Given the description of an element on the screen output the (x, y) to click on. 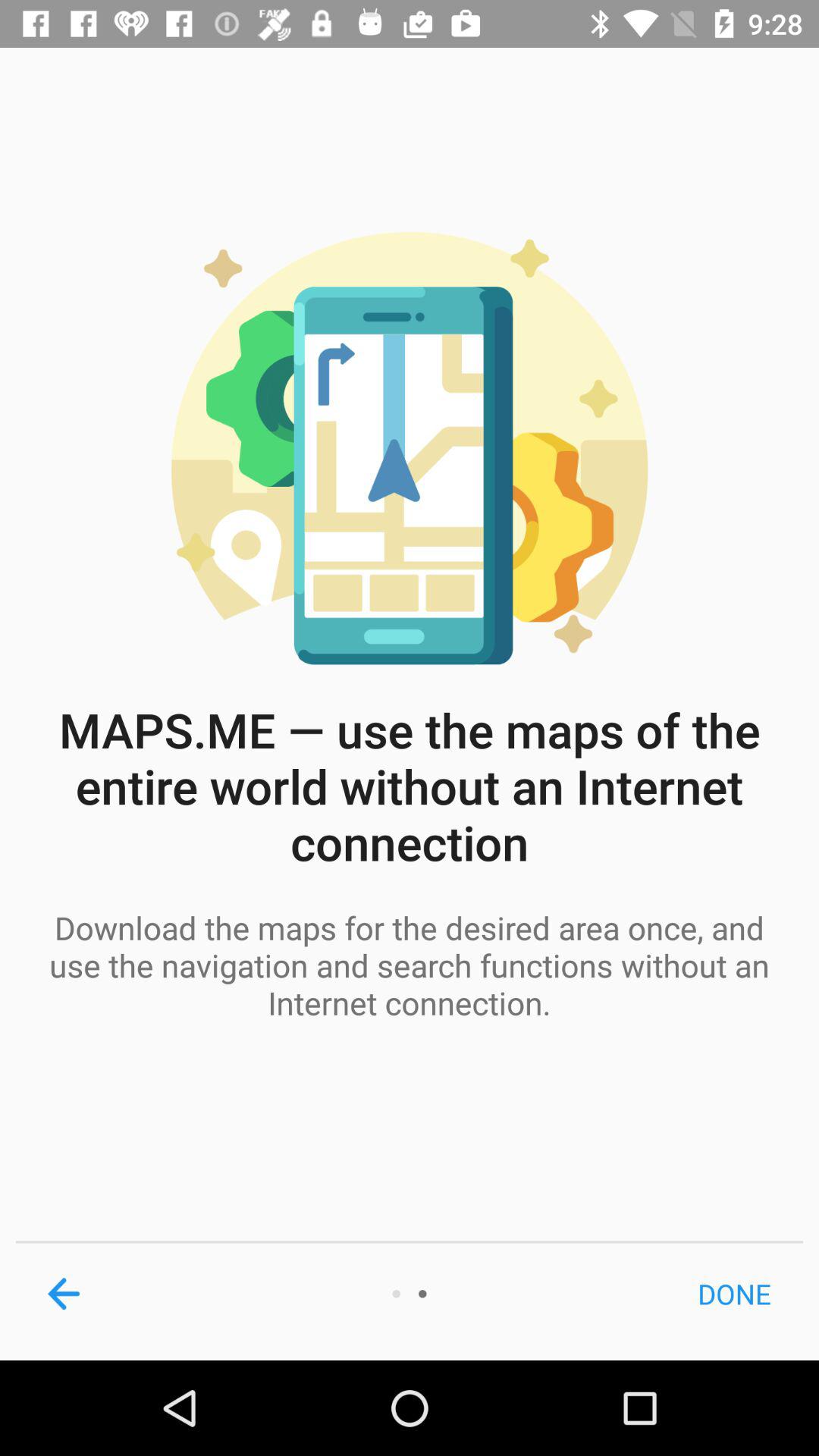
go back button (63, 1293)
